Given the description of an element on the screen output the (x, y) to click on. 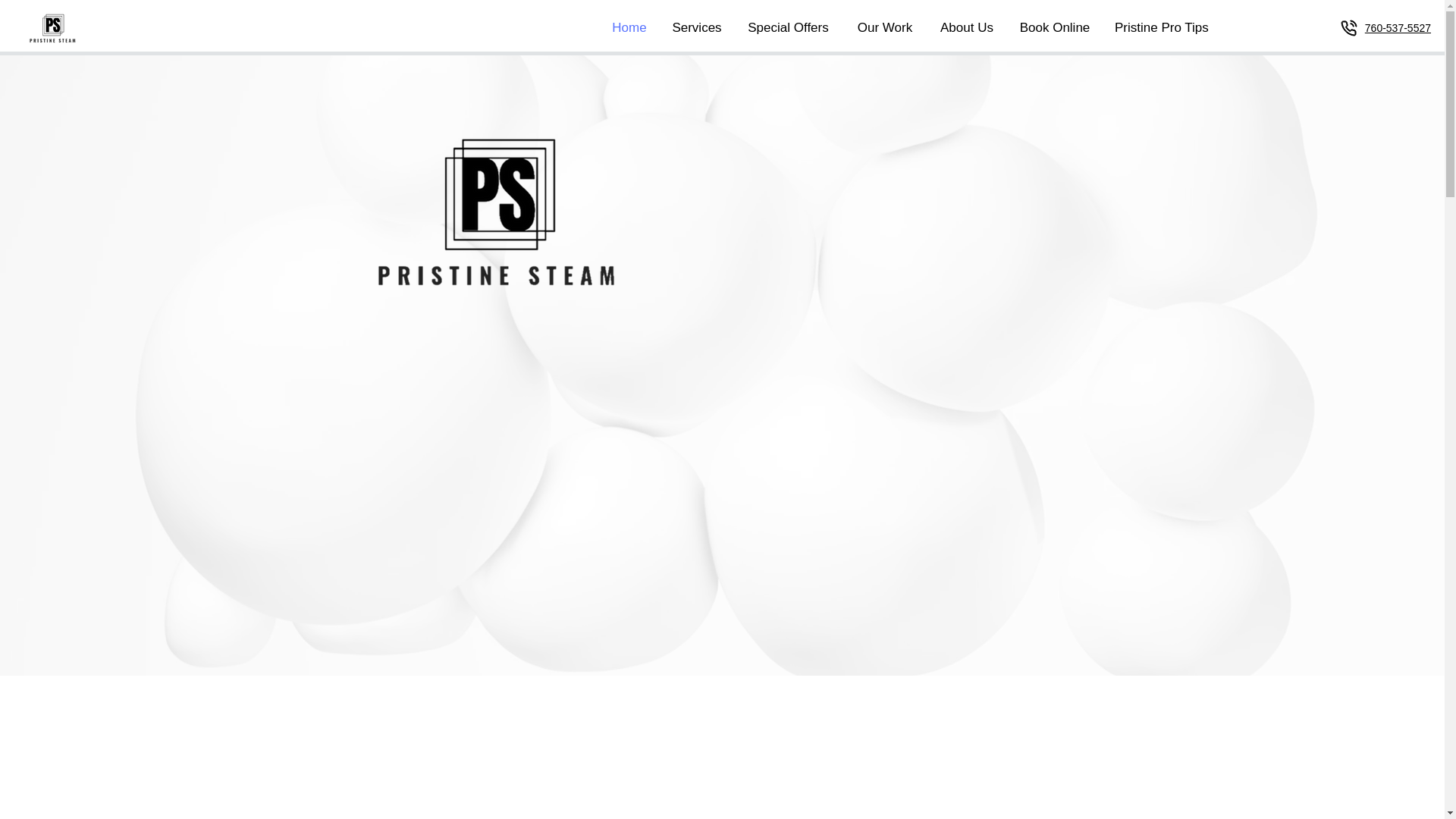
Special Offers (788, 27)
Services (696, 27)
About Us (966, 27)
Home (628, 27)
Book Online (1054, 27)
Our Work (885, 27)
Pristine Pro Tips (1160, 27)
760-537-5527 (1398, 28)
